Given the description of an element on the screen output the (x, y) to click on. 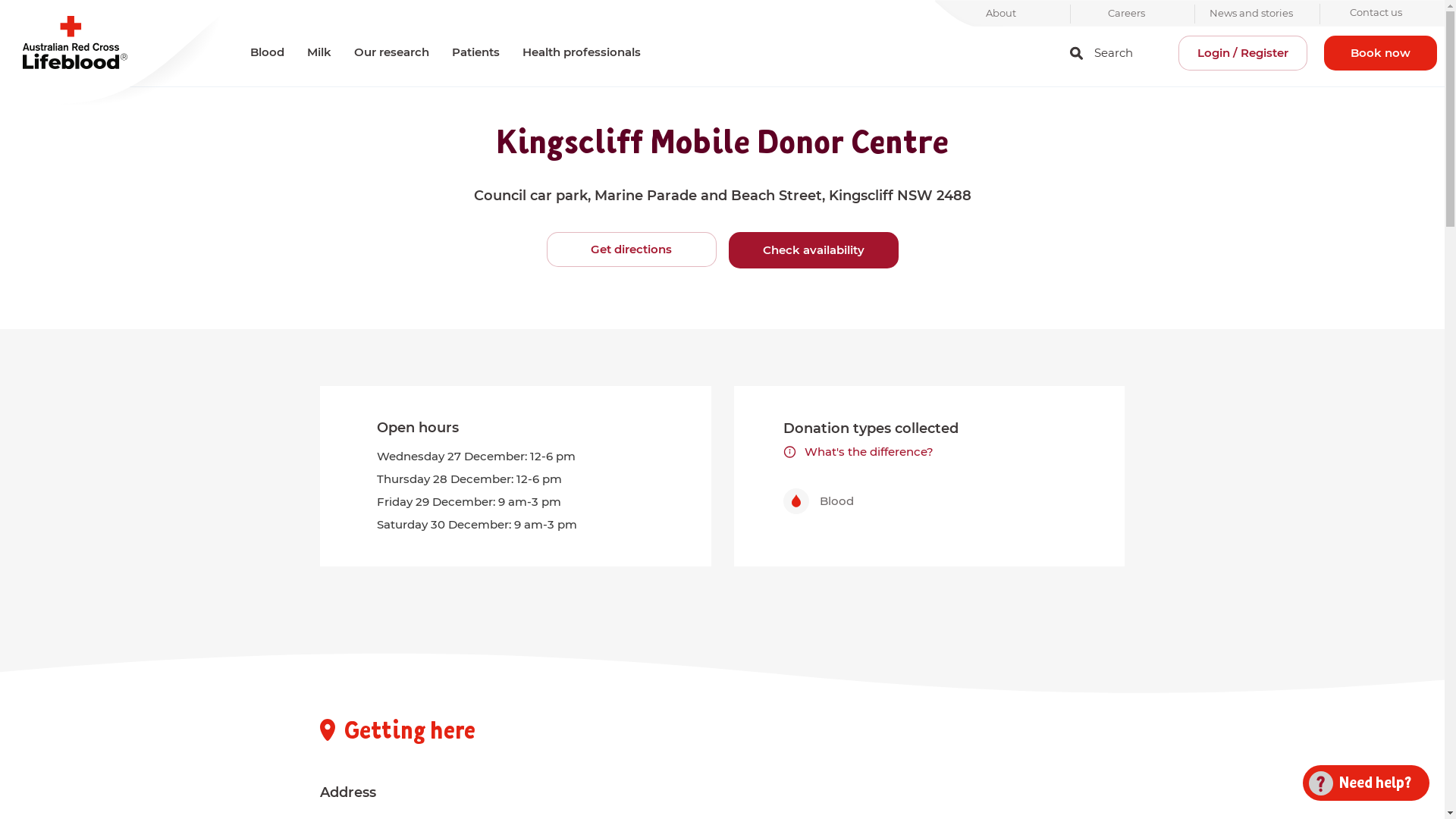
Our research Element type: text (391, 52)
Contact us Element type: text (1375, 13)
Patients Element type: text (475, 52)
What's the difference? Element type: text (857, 451)
Blood Element type: text (266, 52)
search Element type: hover (1076, 52)
Book now Element type: text (1380, 52)
Health professionals Element type: text (581, 52)
Skip to main content Element type: text (721, 1)
Get directions Element type: text (630, 249)
About Element type: text (1000, 13)
Check availability Element type: text (812, 250)
Login / Register Element type: text (1242, 52)
Careers Element type: text (1126, 13)
News and stories Element type: text (1250, 13)
Home Element type: hover (113, 53)
Need help? Element type: text (1359, 782)
Milk Element type: text (318, 52)
